Given the description of an element on the screen output the (x, y) to click on. 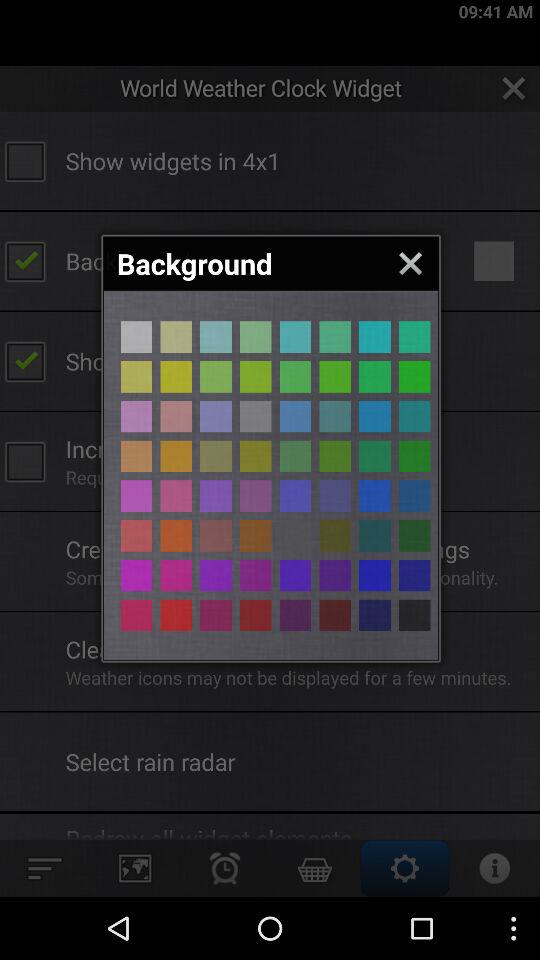
background colour selection (136, 495)
